Given the description of an element on the screen output the (x, y) to click on. 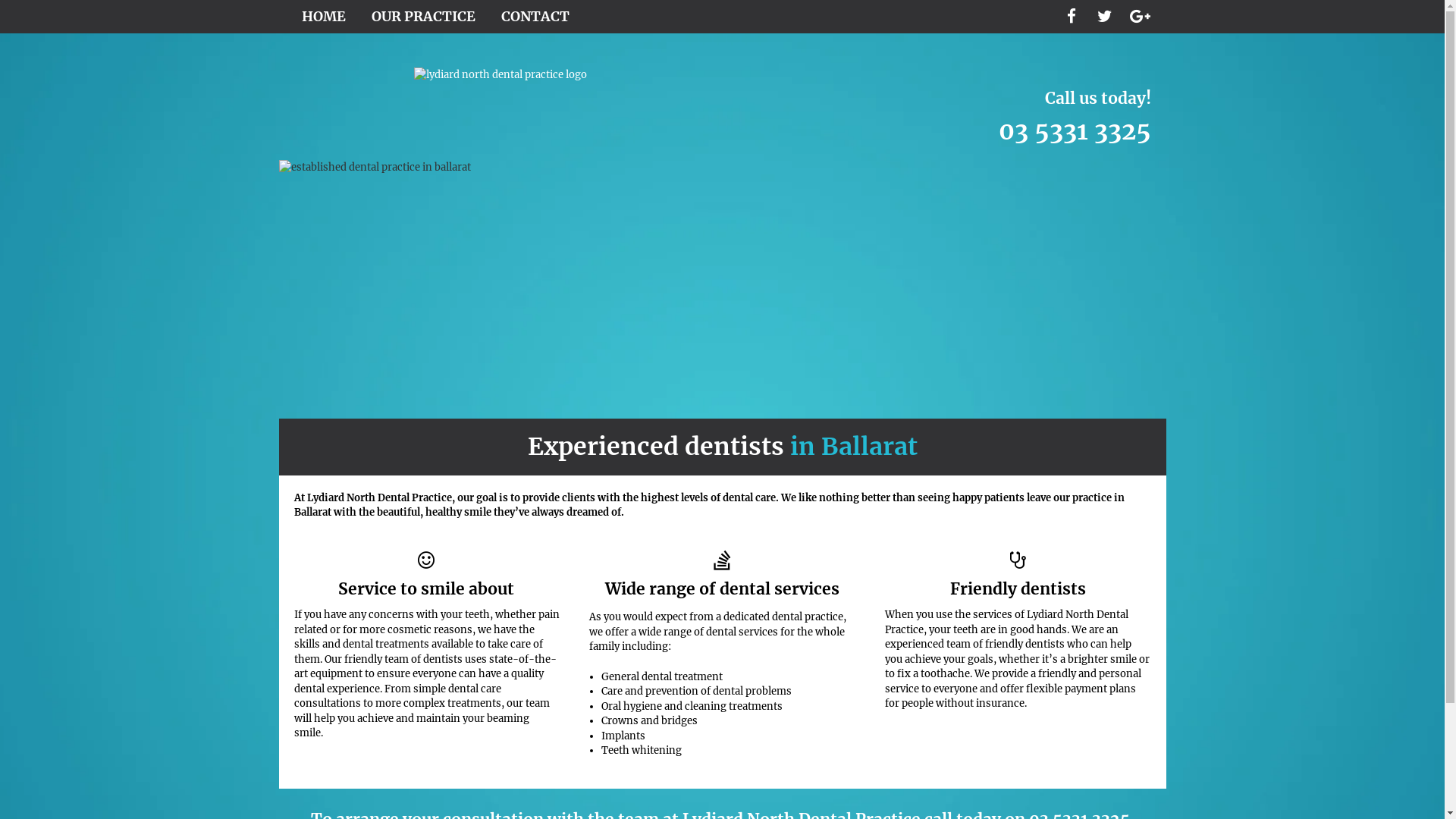
established dental practice in ballarat Element type: hover (722, 289)
HOME Element type: text (323, 16)
OUR PRACTICE Element type: text (423, 16)
03 5331 3325 Element type: text (1073, 149)
lydiard north dental practice logo Element type: hover (500, 83)
CONTACT Element type: text (534, 16)
